Given the description of an element on the screen output the (x, y) to click on. 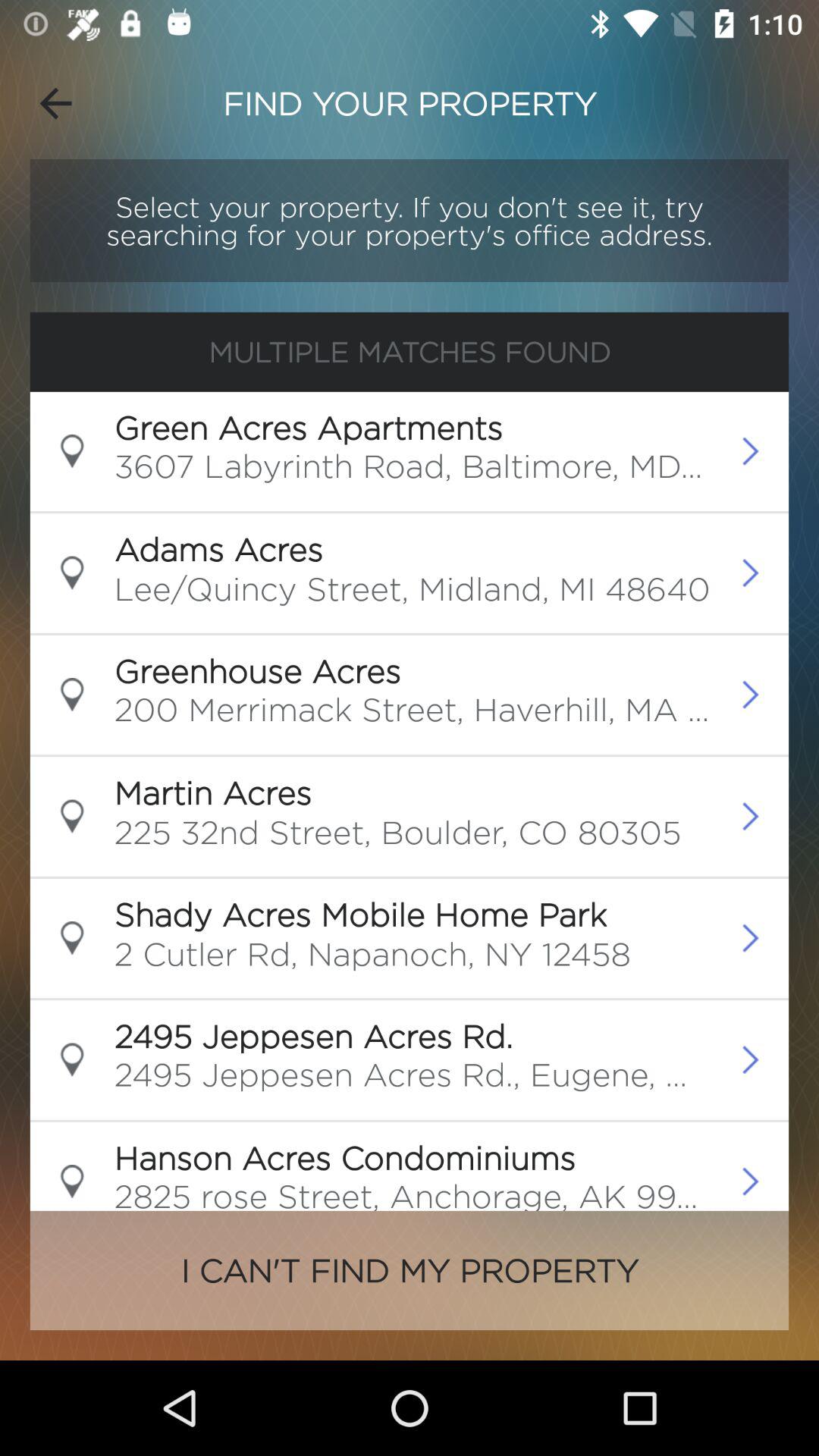
tap the icon above the select your property icon (55, 103)
